Given the description of an element on the screen output the (x, y) to click on. 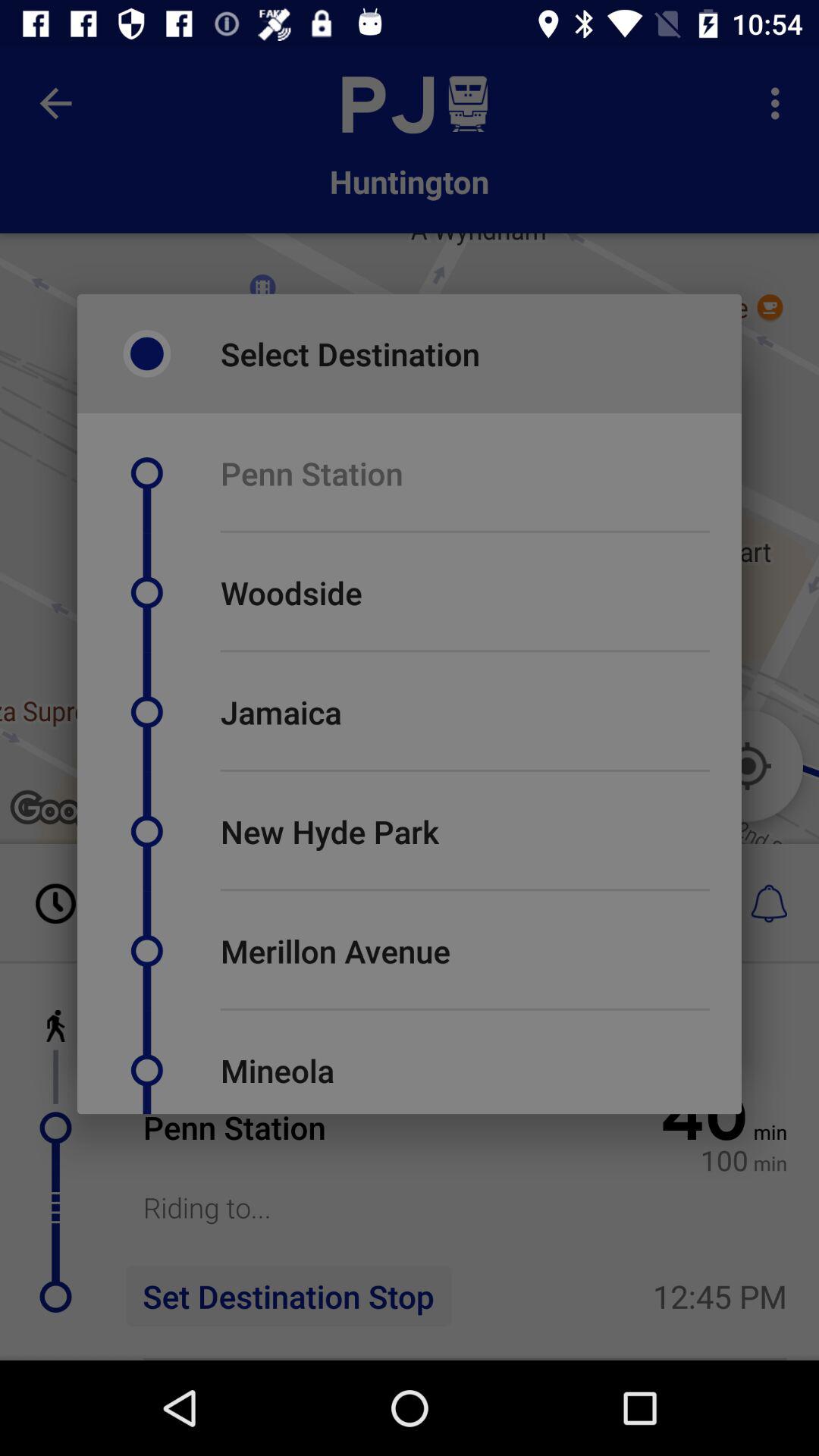
jump until merillon avenue (335, 950)
